Given the description of an element on the screen output the (x, y) to click on. 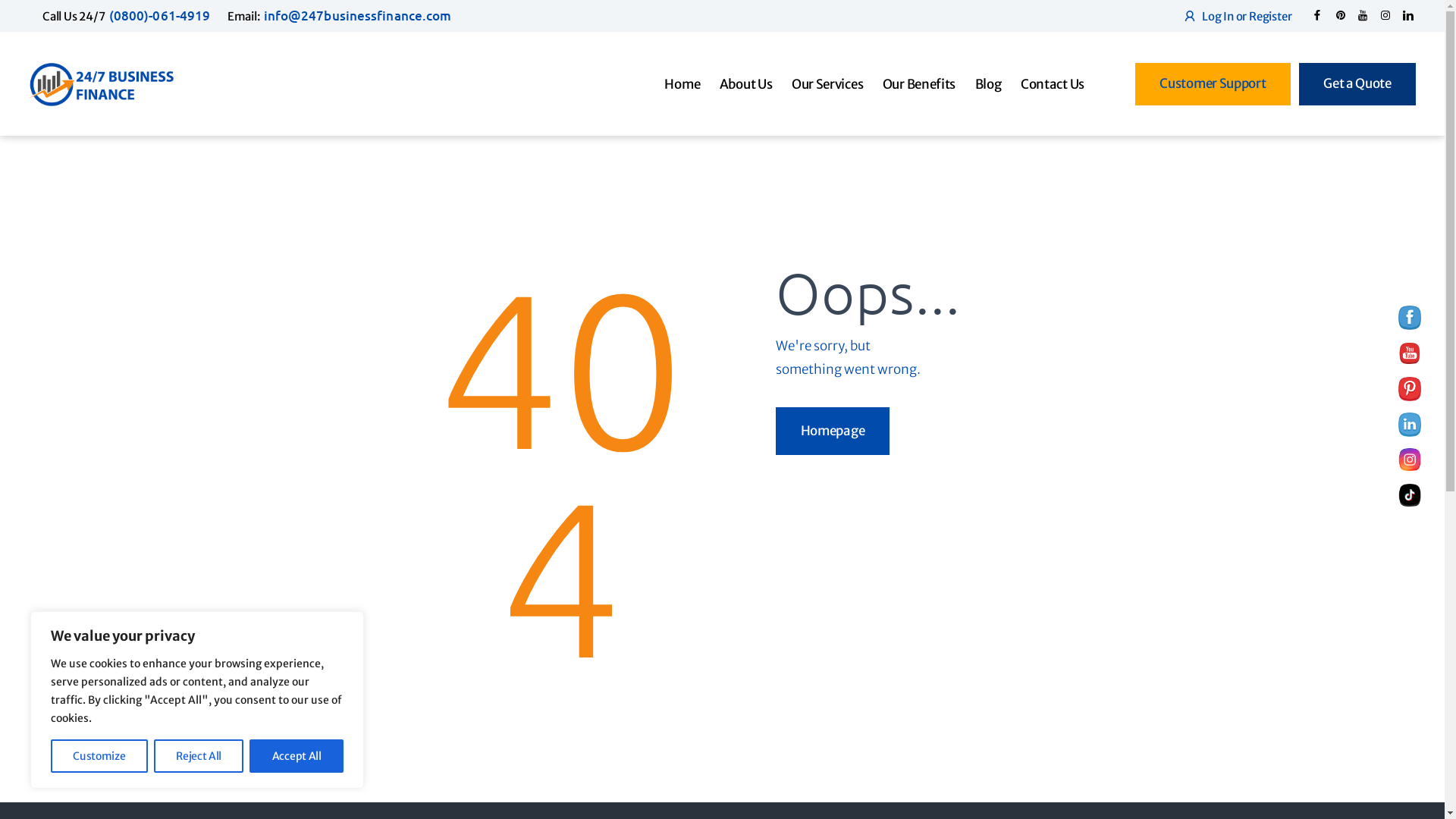
About Us Element type: text (745, 83)
Our Benefits Element type: text (918, 83)
Pinterest Element type: hover (1409, 388)
Tiktok Element type: hover (1409, 494)
Customer Support Element type: text (1212, 83)
YouTube Element type: hover (1409, 352)
Homepage Element type: text (832, 431)
Home Element type: text (682, 83)
Reject All Element type: text (198, 755)
Our Services Element type: text (826, 83)
Call Us 24/7(0800)-061-4919 Element type: text (126, 16)
Facebook Element type: hover (1409, 317)
Accept All Element type: text (296, 755)
Blog Element type: text (987, 83)
Customize Element type: text (98, 755)
Instagram Element type: hover (1409, 459)
Email:info@247businessfinance.com Element type: text (339, 16)
Get a Quote Element type: text (1357, 83)
Contact Us Element type: text (1052, 83)
Log In or Register Element type: text (1237, 15)
LinkedIn Element type: hover (1409, 424)
